Given the description of an element on the screen output the (x, y) to click on. 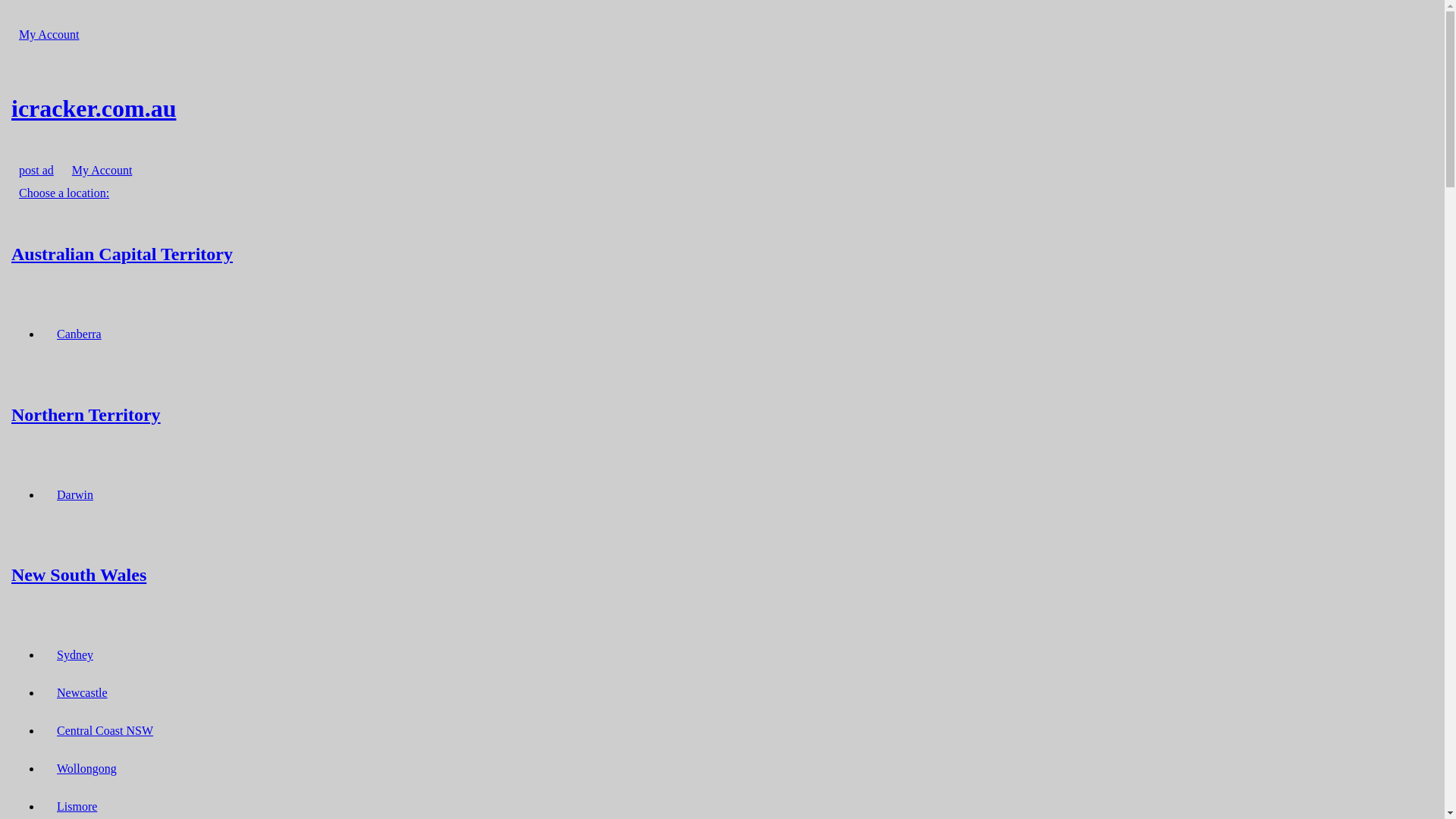
Wollongong Element type: text (86, 768)
icracker.com.au Element type: text (722, 108)
post ad Element type: text (36, 170)
My Account Element type: text (49, 34)
Canberra Element type: text (79, 334)
Northern Territory Element type: text (722, 414)
My Account Element type: text (102, 170)
Australian Capital Territory Element type: text (722, 253)
Central Coast NSW Element type: text (104, 730)
Newcastle Element type: text (82, 692)
New South Wales Element type: text (722, 575)
Darwin Element type: text (74, 494)
Choose a location: Element type: text (63, 192)
Sydney Element type: text (74, 654)
